Given the description of an element on the screen output the (x, y) to click on. 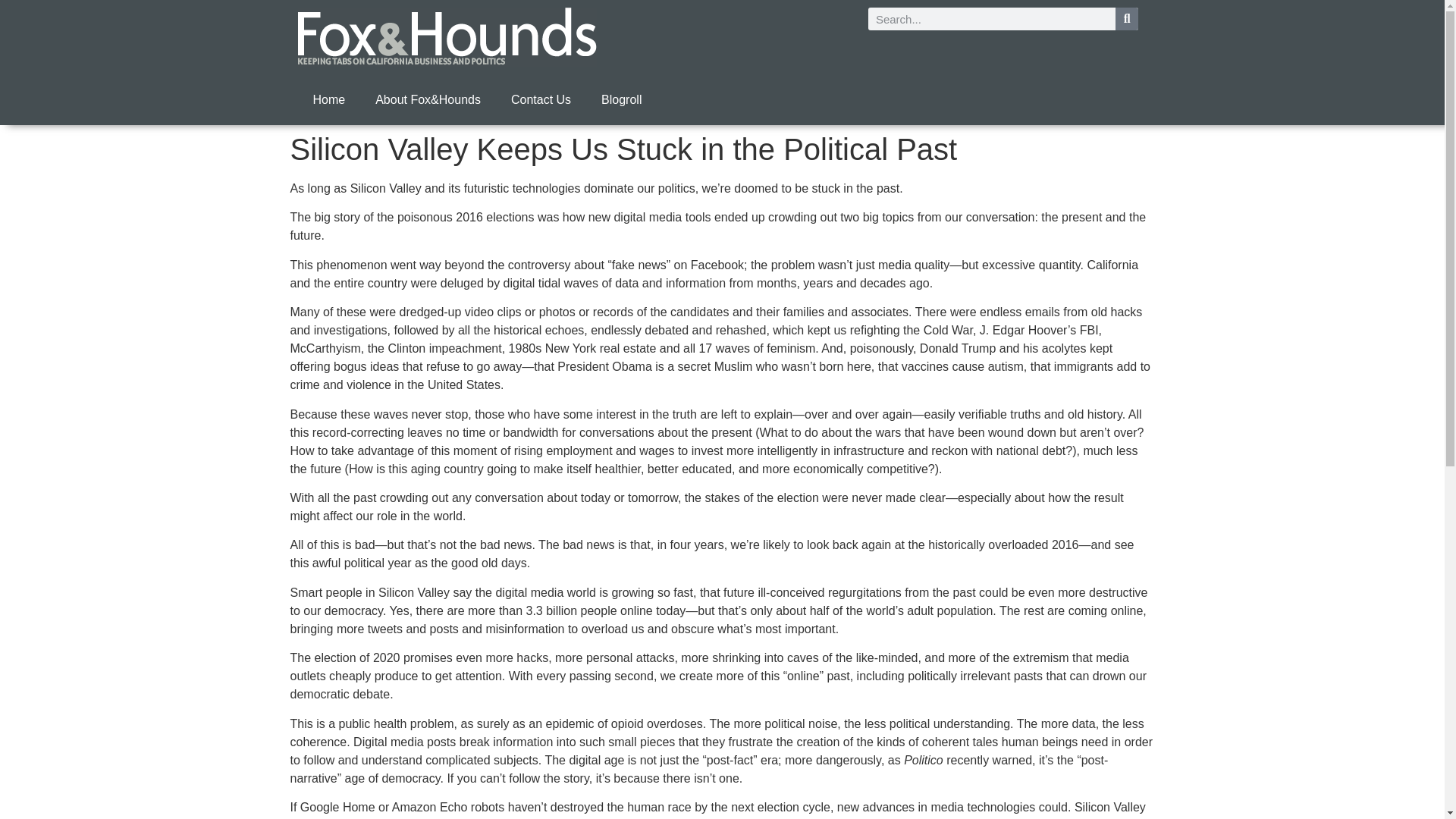
Home (328, 99)
Blogroll (621, 99)
Contact Us (541, 99)
